Given the description of an element on the screen output the (x, y) to click on. 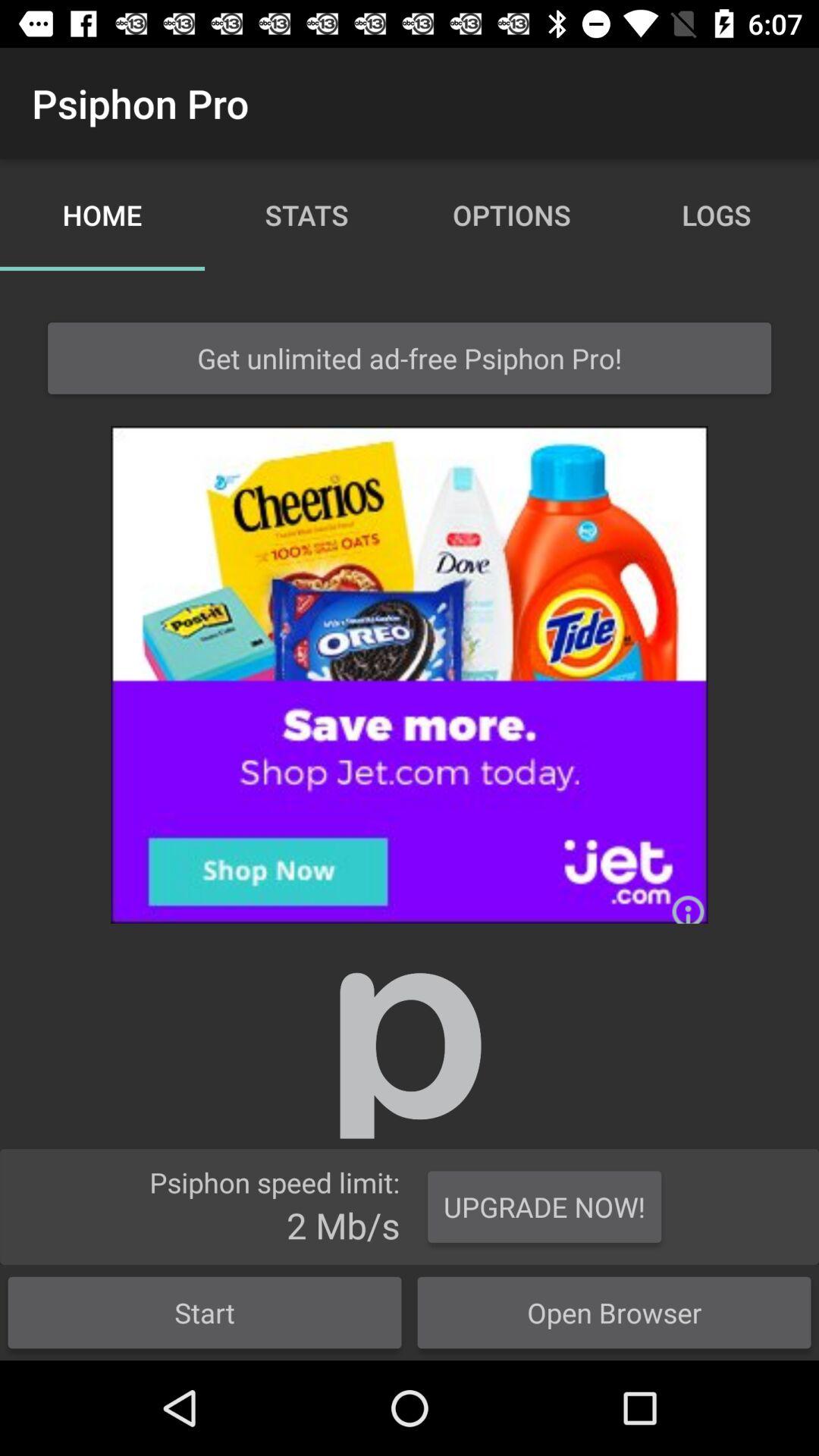
advertisement about jet.com (409, 674)
